Given the description of an element on the screen output the (x, y) to click on. 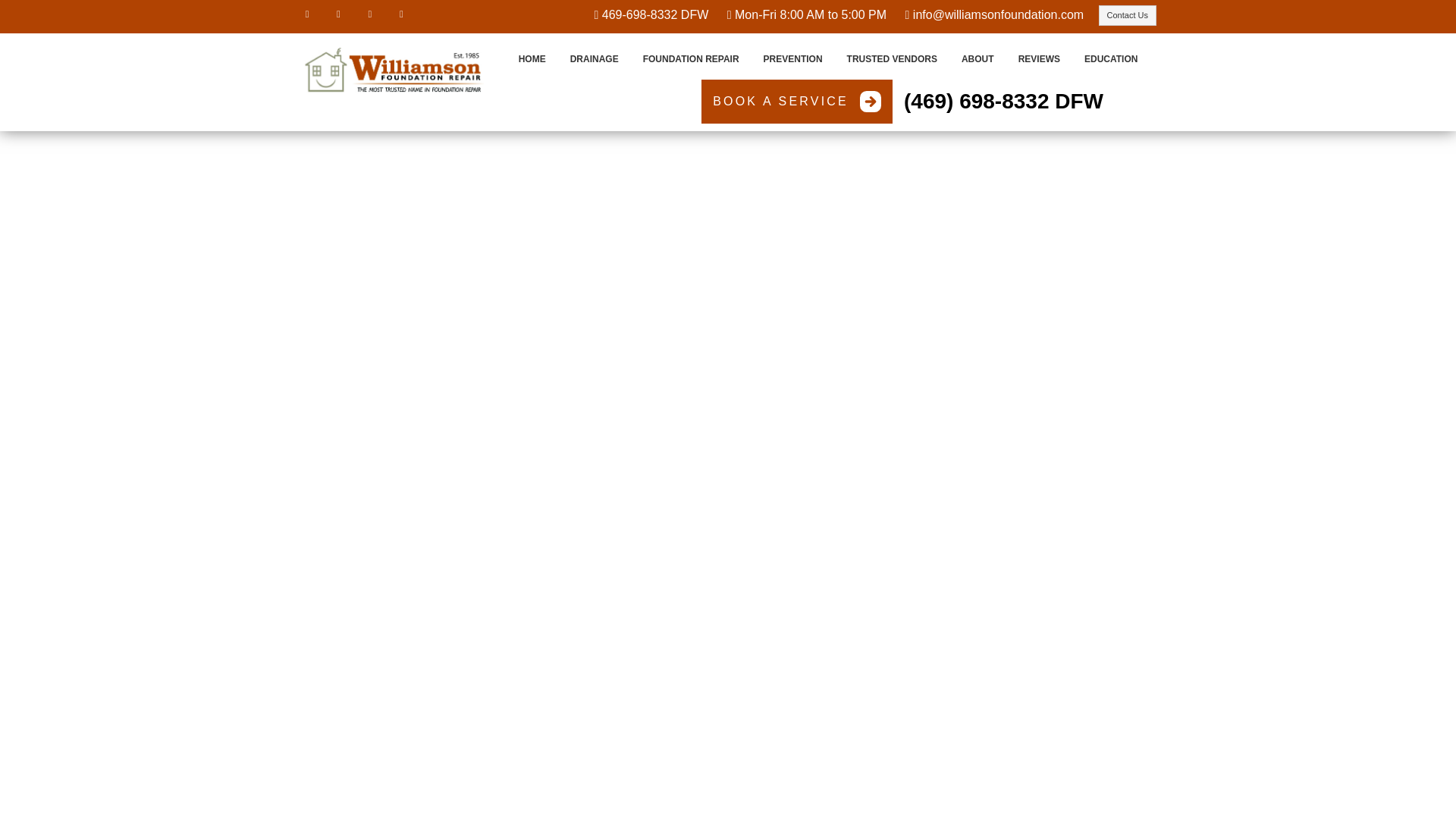
Contact Us (1127, 14)
BOOK A SERVICE (796, 101)
HOME (531, 59)
DRAINAGE (593, 59)
EDUCATION (1110, 59)
REVIEWS (1038, 59)
TRUSTED VENDORS (891, 59)
PREVENTION (792, 59)
469-698-8332 DFW (655, 14)
FOUNDATION REPAIR (690, 59)
